Given the description of an element on the screen output the (x, y) to click on. 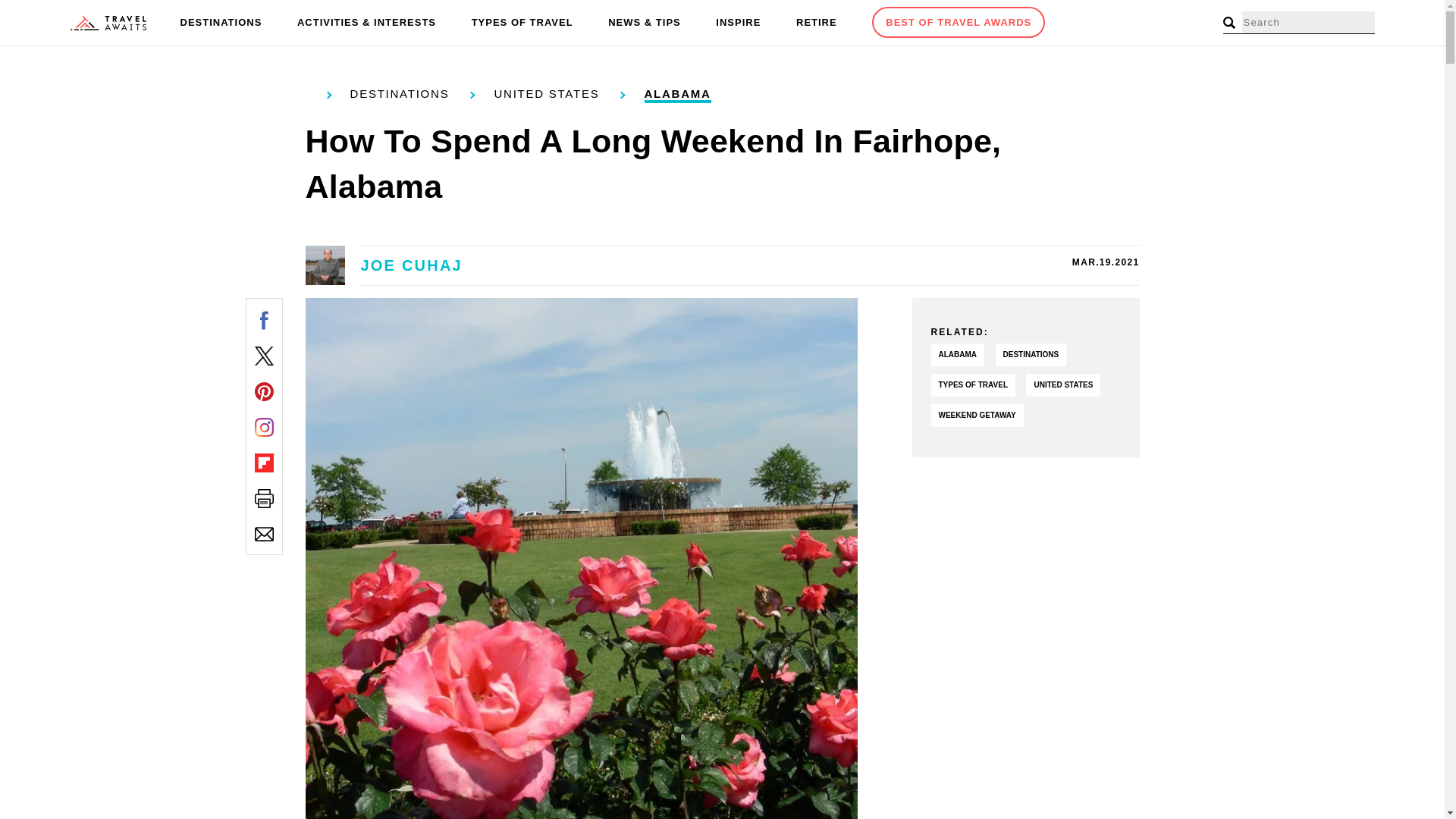
TravelAwaits (107, 22)
Facebook (263, 320)
Print (263, 497)
Instagram (263, 426)
Flipboard (263, 462)
Pinterest (263, 391)
Email (263, 533)
TYPES OF TRAVEL (522, 22)
Twitter (263, 355)
